Given the description of an element on the screen output the (x, y) to click on. 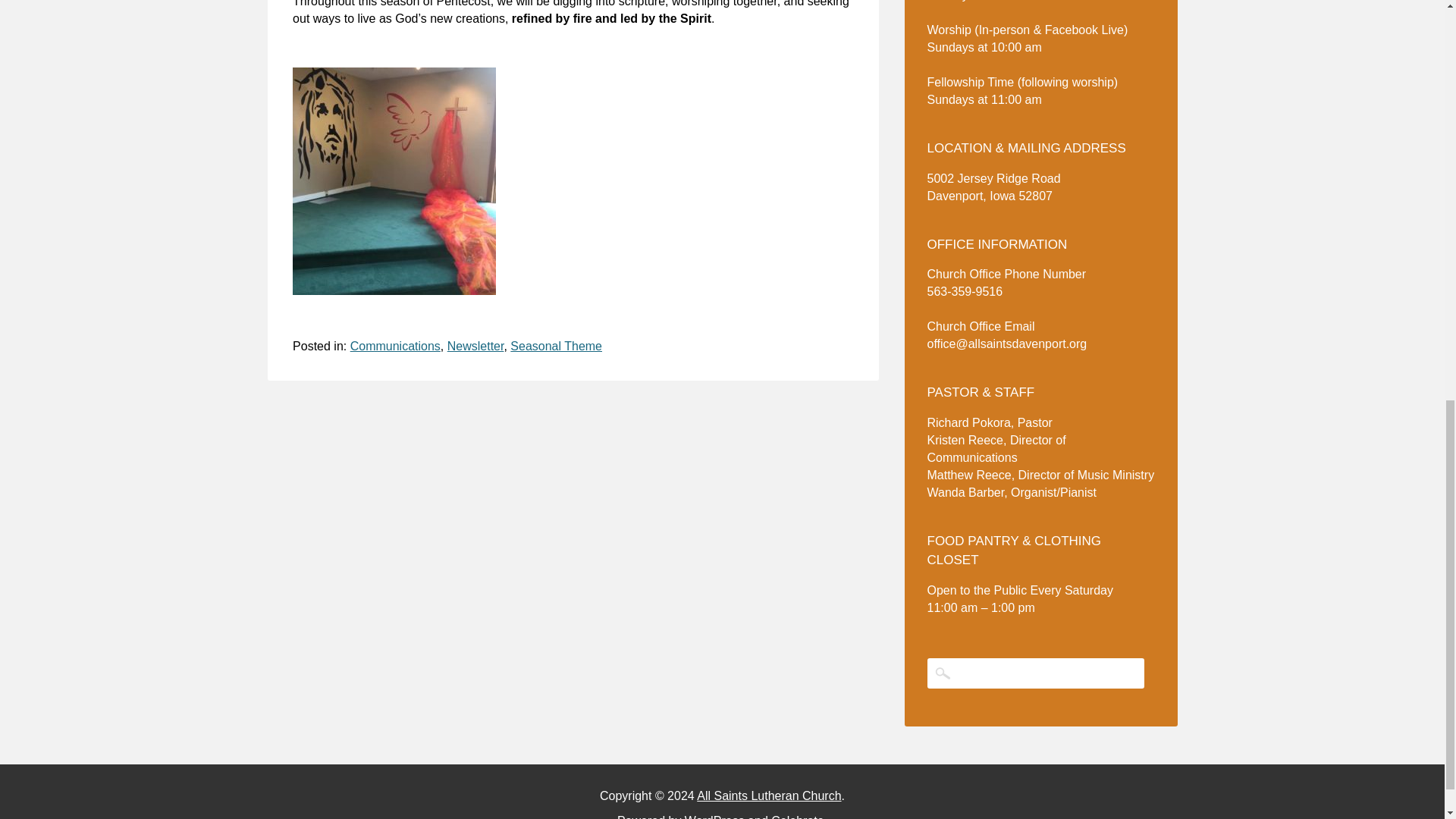
Celebrate WordPress Theme (797, 816)
All Saints Lutheran Church (769, 795)
WordPress (714, 816)
Communications (395, 345)
Seasonal Theme (556, 345)
All Saints Lutheran Church (769, 795)
Celebrate (797, 816)
State-of-the-art semantic personal publishing platform (714, 816)
Newsletter (474, 345)
